Given the description of an element on the screen output the (x, y) to click on. 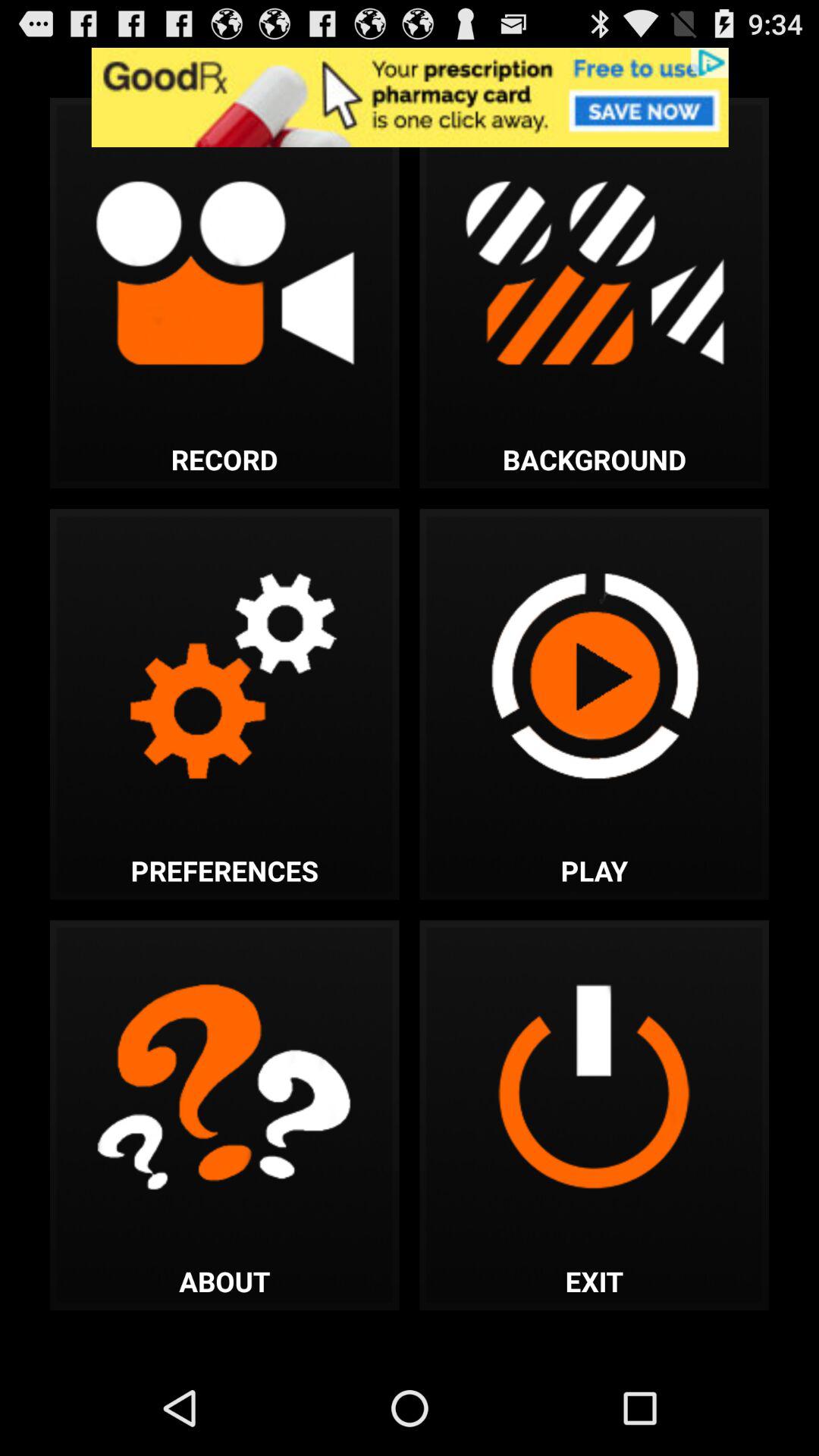
the advertisement which people dont bother much (409, 97)
